Given the description of an element on the screen output the (x, y) to click on. 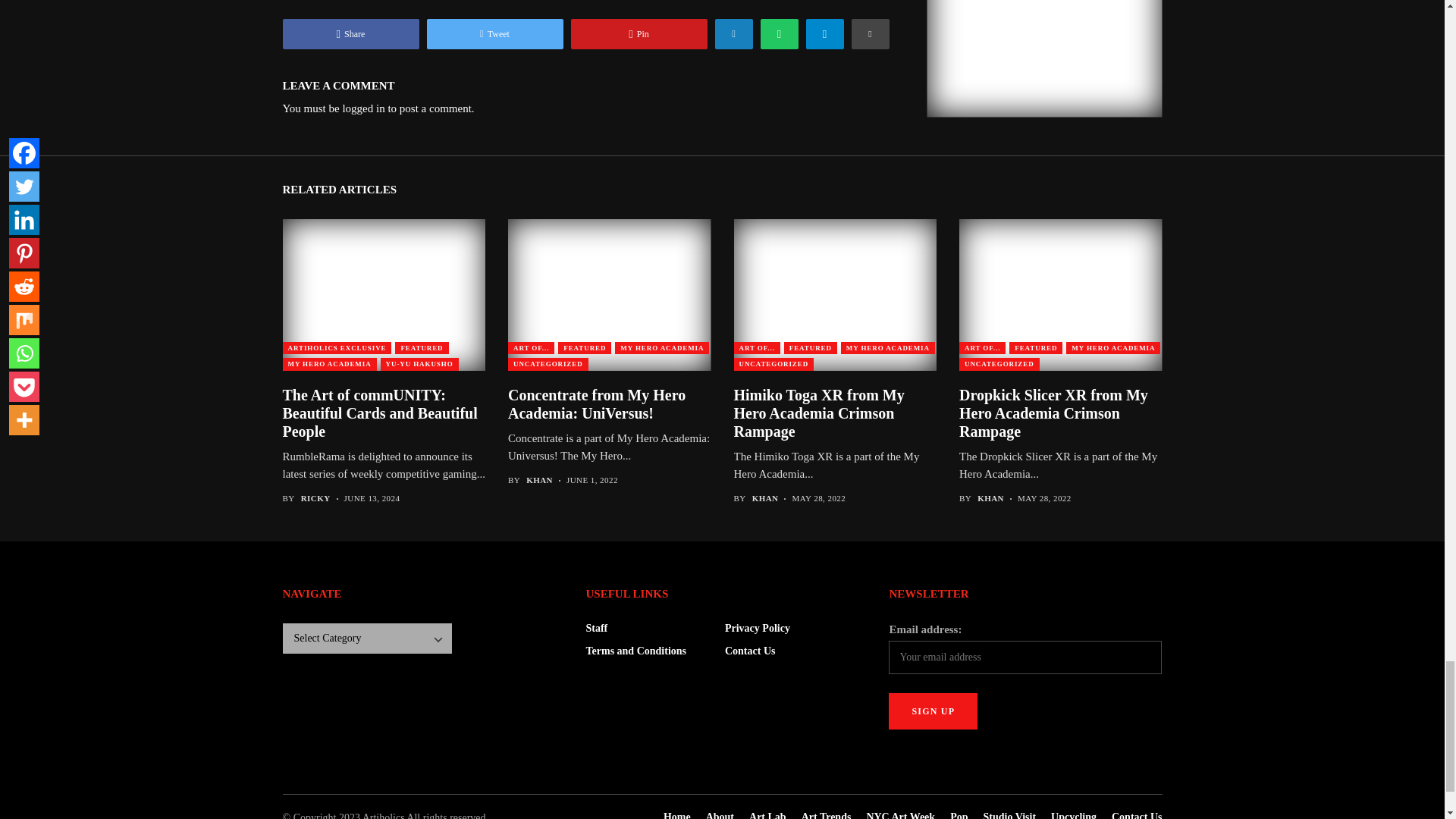
Posts by Khan (539, 480)
Sign up (932, 710)
Posts by Ricky (315, 498)
Posts by Khan (765, 498)
